Given the description of an element on the screen output the (x, y) to click on. 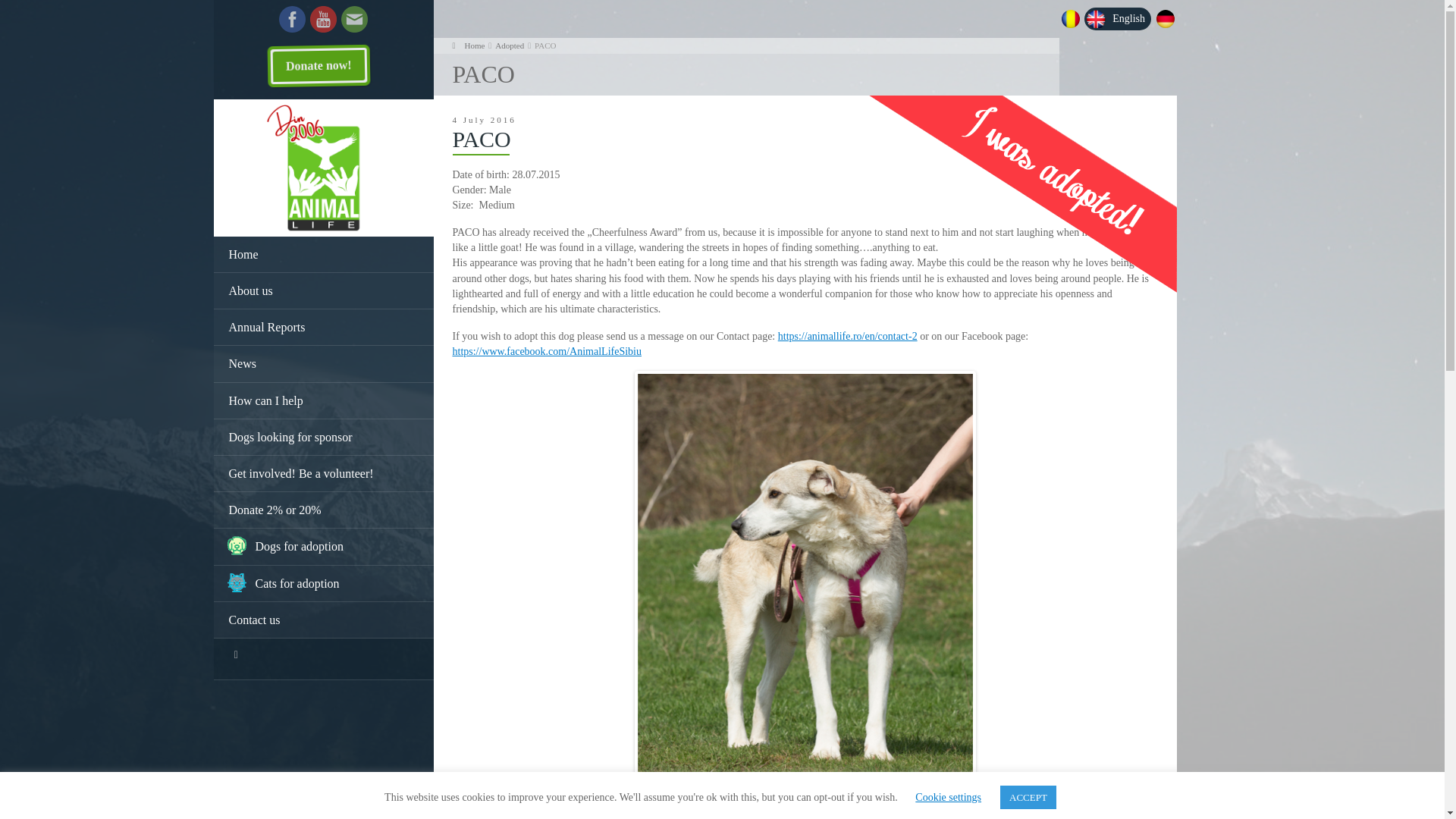
How can I help (323, 401)
Facebook (292, 18)
View all posts in Adopted (509, 44)
Annual Reports (323, 327)
AnimalLife Sibiu (474, 44)
Search (235, 654)
English (1115, 19)
PACO (545, 44)
Adopted (509, 44)
YouTube (323, 18)
